Given the description of an element on the screen output the (x, y) to click on. 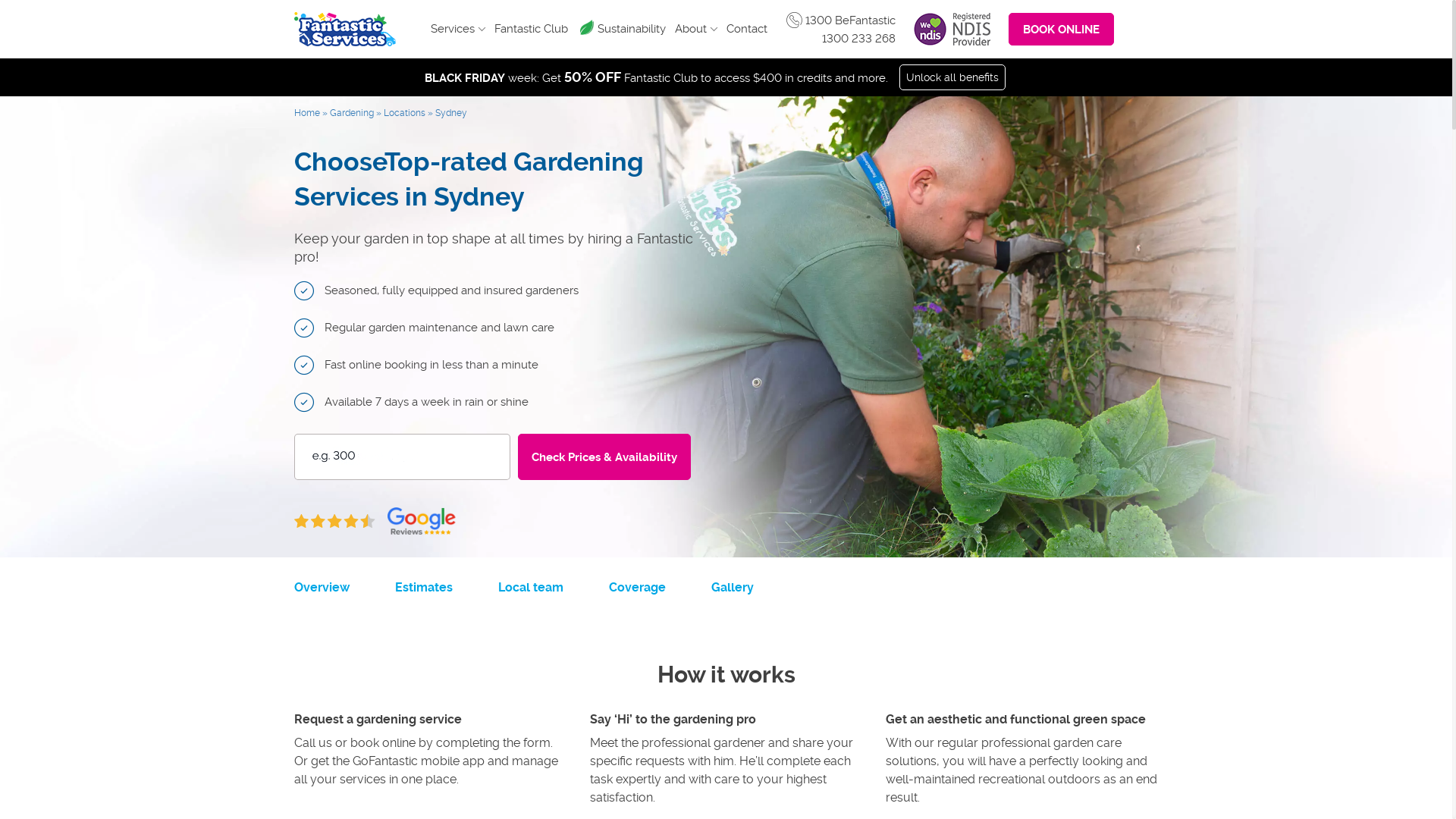
BOOK ONLINE Element type: text (1060, 28)
Sydney Element type: text (451, 112)
1300 233 268 Element type: text (858, 38)
Fantastic Club Element type: text (530, 29)
Local team Element type: text (529, 587)
About Element type: text (695, 29)
Locations Element type: text (404, 112)
Services Element type: text (457, 29)
Gallery Element type: text (732, 587)
Sustainability Element type: text (631, 29)
Estimates Element type: text (422, 587)
Unlock all benefits Element type: text (952, 77)
Home Element type: text (307, 112)
Gardening Element type: text (351, 112)
Fantastic Services Element type: hover (344, 29)
Overview Element type: text (321, 587)
Coverage Element type: text (636, 587)
Contact Element type: text (746, 29)
Check Prices & Availability Element type: text (603, 456)
